Given the description of an element on the screen output the (x, y) to click on. 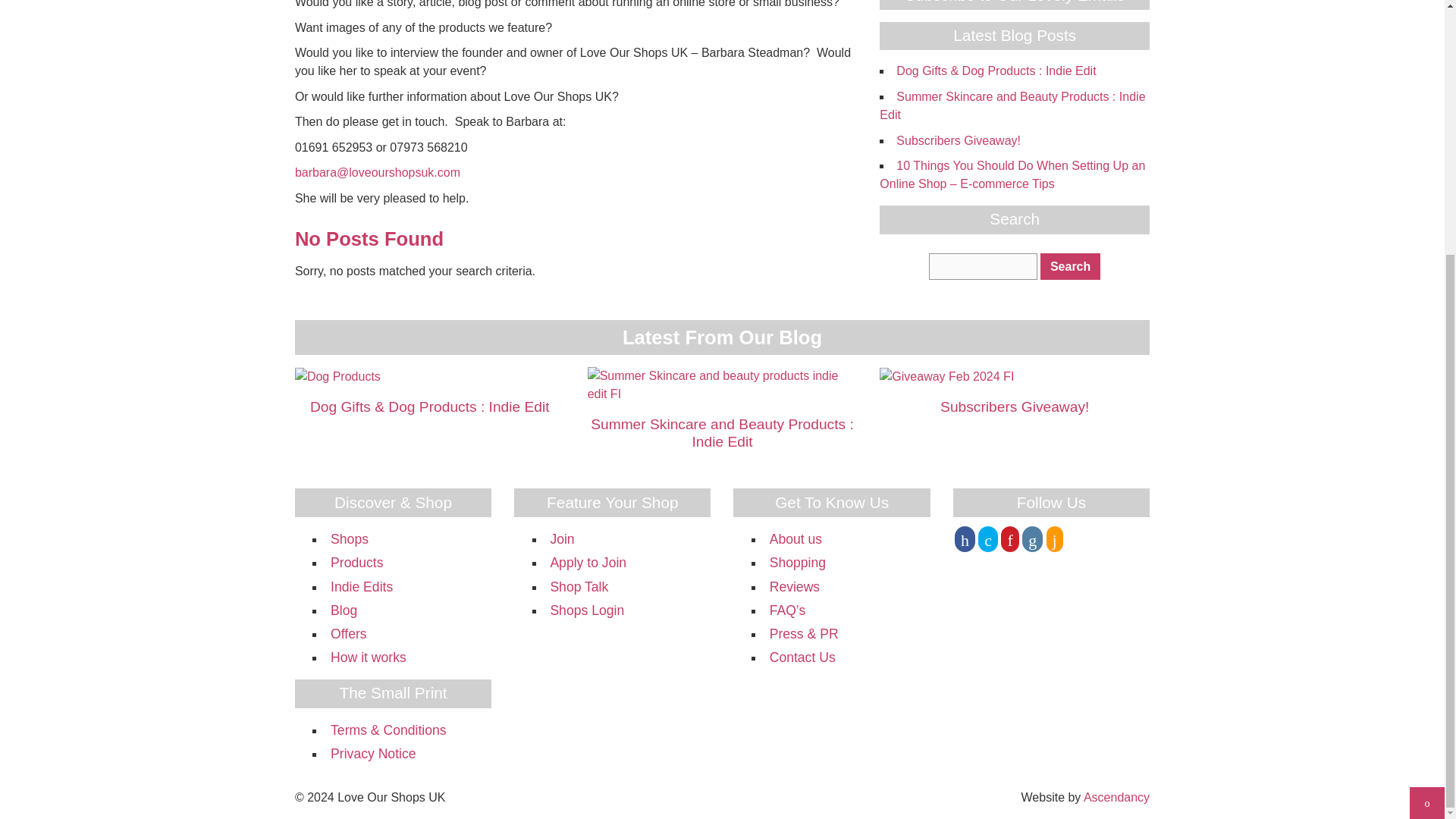
Shops (349, 539)
Search (1070, 266)
Subscribers Giveaway! (958, 140)
Subscribers Giveaway! (946, 375)
Why Feature With Us? (561, 539)
Offers (348, 633)
Search (1070, 266)
Blog (343, 610)
Summer Skincare and Beauty Products : Indie Edit (722, 383)
Subscribers Giveaway! (1014, 406)
